Given the description of an element on the screen output the (x, y) to click on. 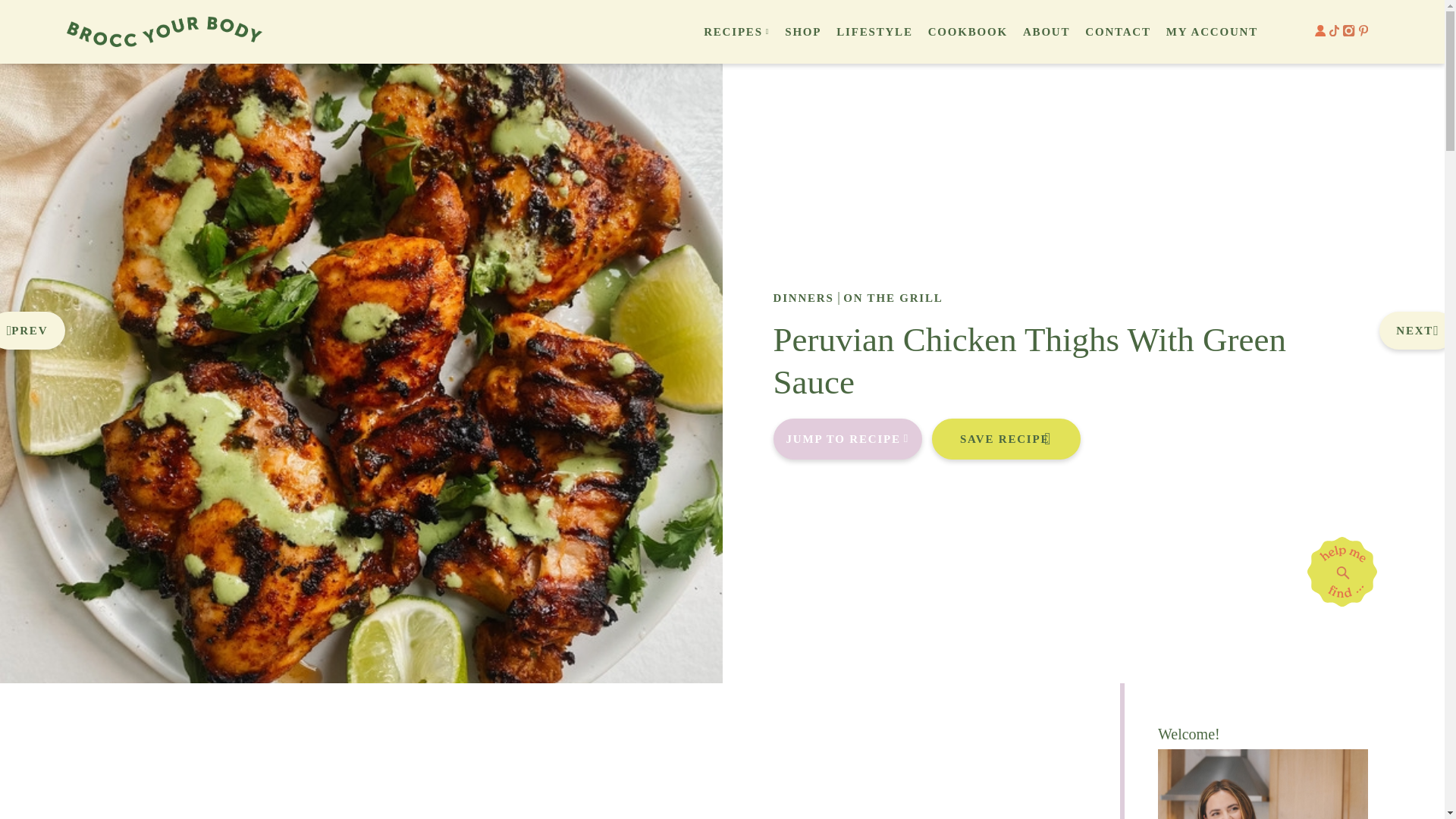
DINNERS (803, 297)
NEXT (1416, 330)
LIFESTYLE (873, 31)
MY ACCOUNT (1211, 31)
ON THE GRILL (892, 297)
SAVE RECIPE (1005, 438)
PREV (32, 330)
COOKBOOK (967, 31)
SHOP (802, 31)
JUMP TO RECIPE (848, 438)
ABOUT (1046, 31)
RECIPES (732, 31)
CONTACT (1117, 31)
